Given the description of an element on the screen output the (x, y) to click on. 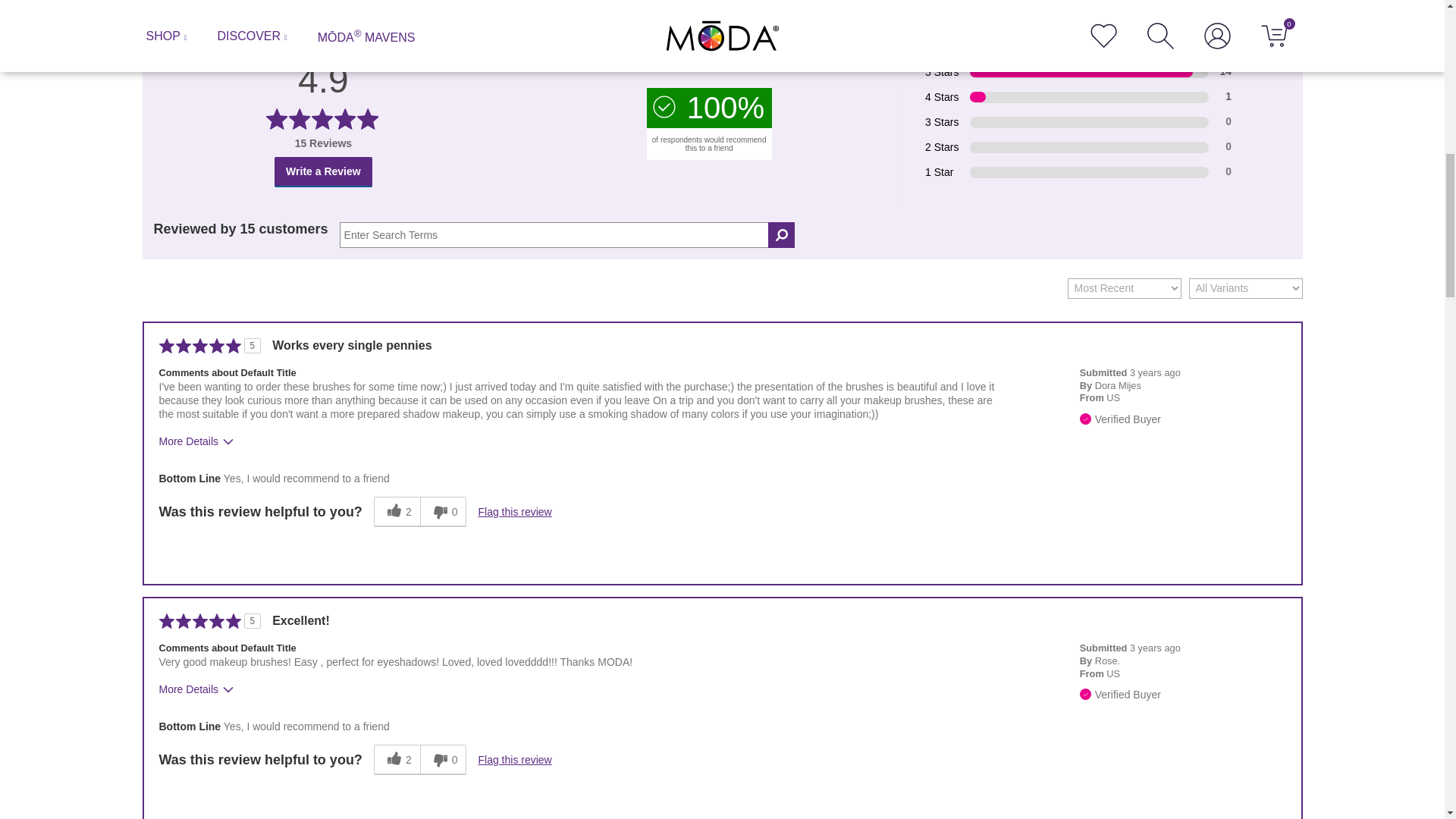
Verified Buyer (1085, 419)
Verified Buyer (1085, 694)
